Given the description of an element on the screen output the (x, y) to click on. 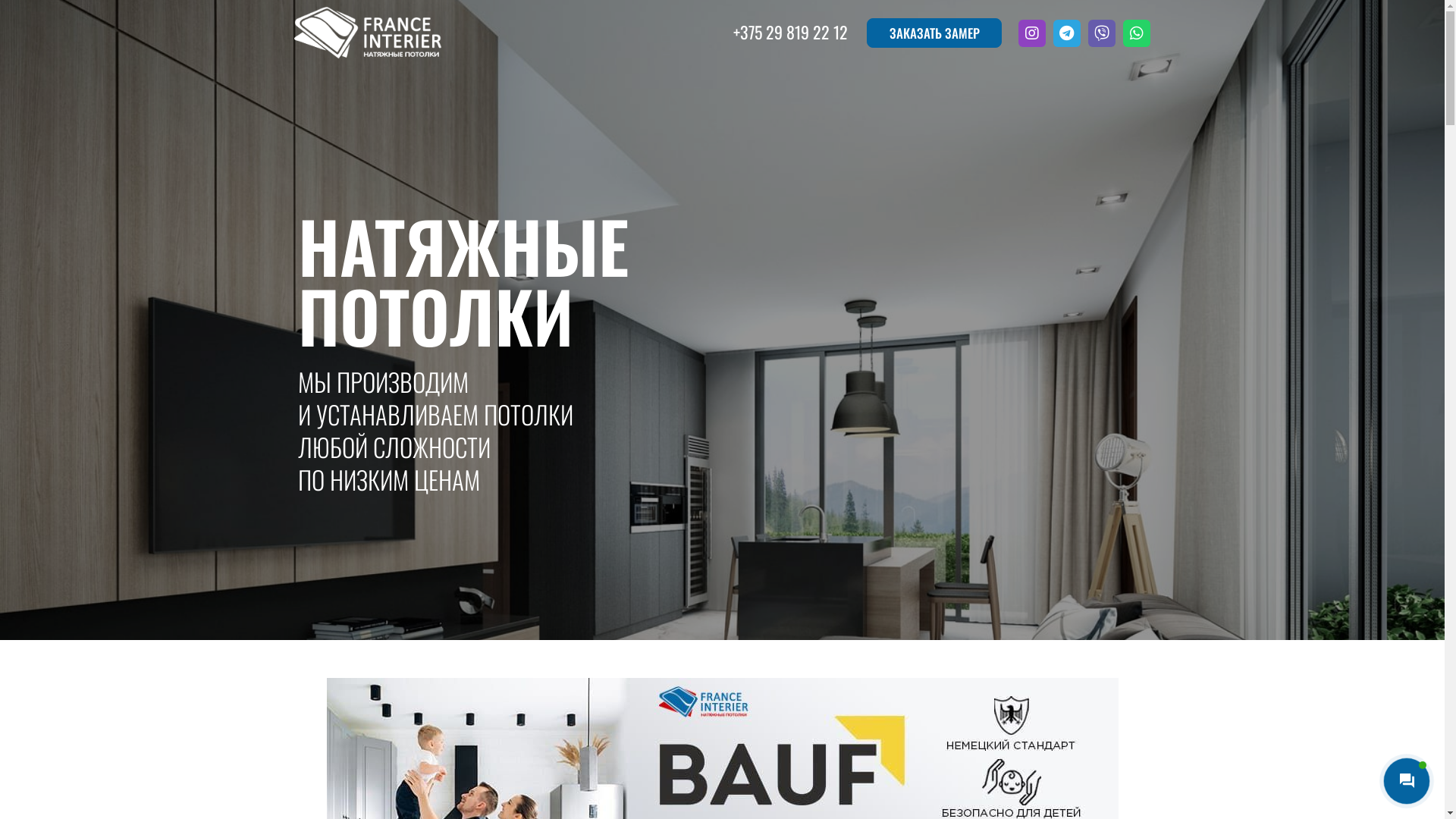
+375 29 819 22 12 Element type: text (790, 31)
